Given the description of an element on the screen output the (x, y) to click on. 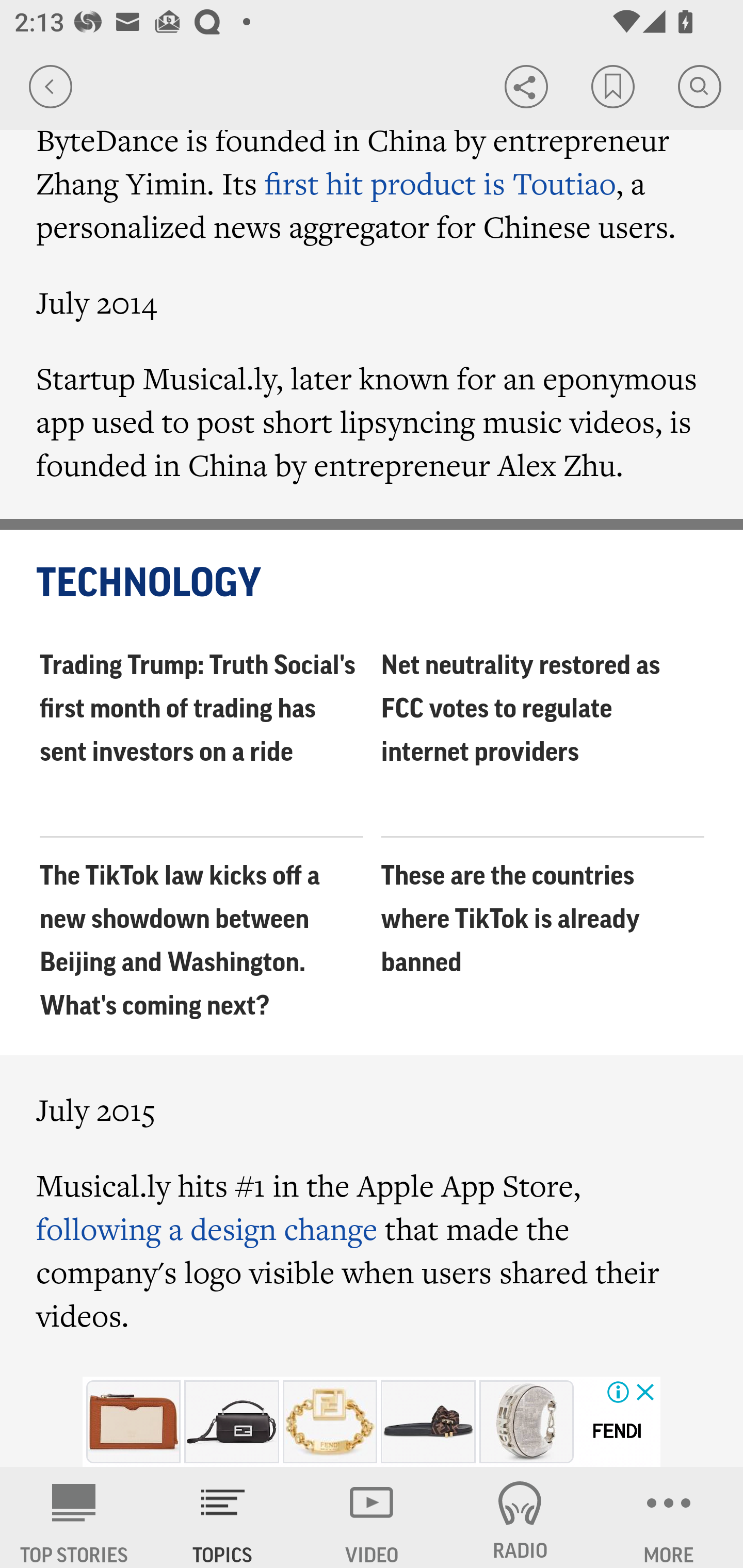
first hit product is Toutiao (440, 183)
TECHNOLOGY (372, 583)
following a design change (207, 1228)
fendi-feel-brown-satin-slides-8x8142ae7sf0r7v (428, 1420)
AP News TOP STORIES (74, 1517)
TOPICS (222, 1517)
VIDEO (371, 1517)
RADIO (519, 1517)
MORE (668, 1517)
